Given the description of an element on the screen output the (x, y) to click on. 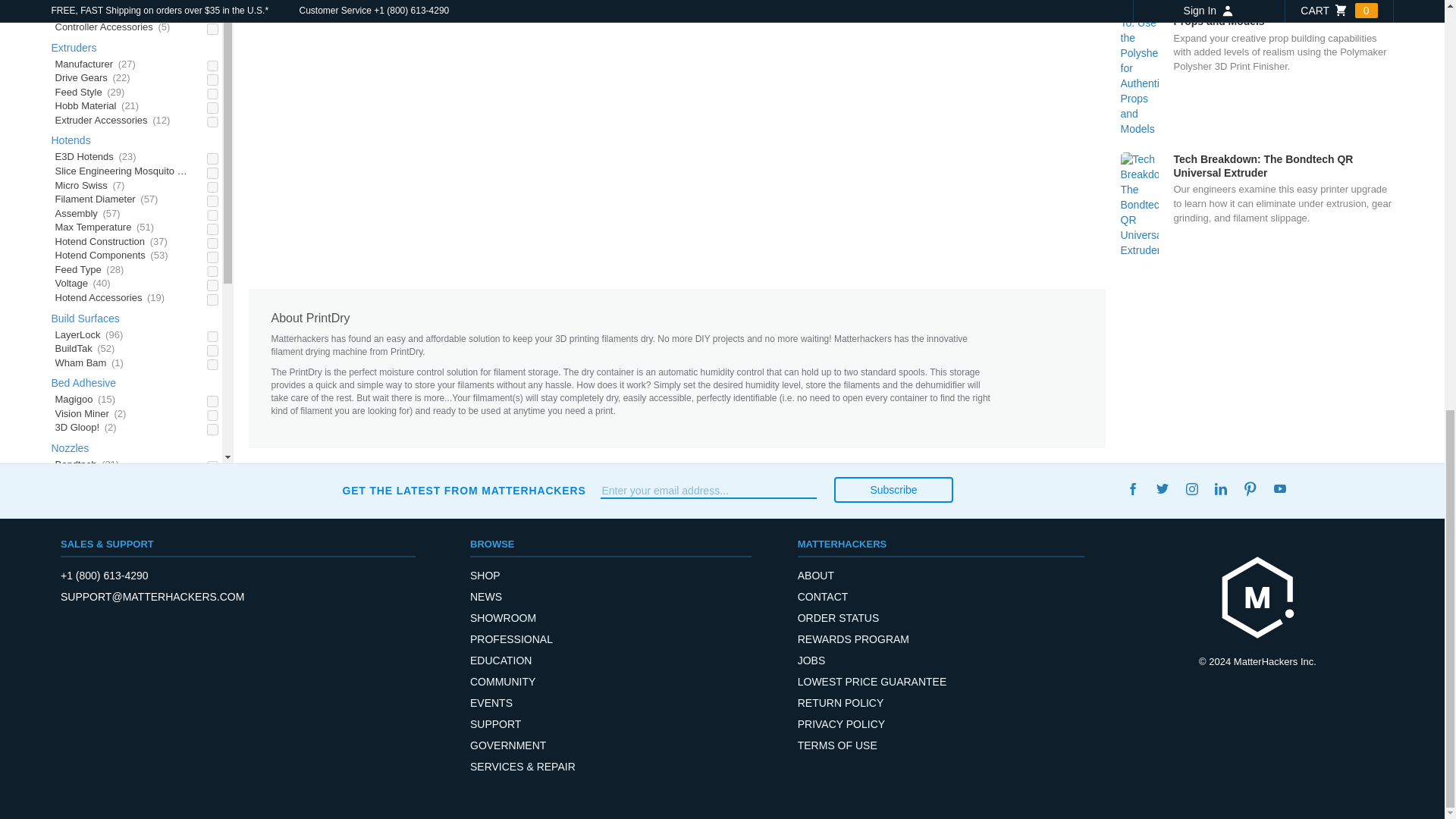
Tech Breakdown: The Bondtech QR Universal Extruder  (1257, 205)
How To: Use the Polysher for Authentic Props and Models (1257, 68)
